Given the description of an element on the screen output the (x, y) to click on. 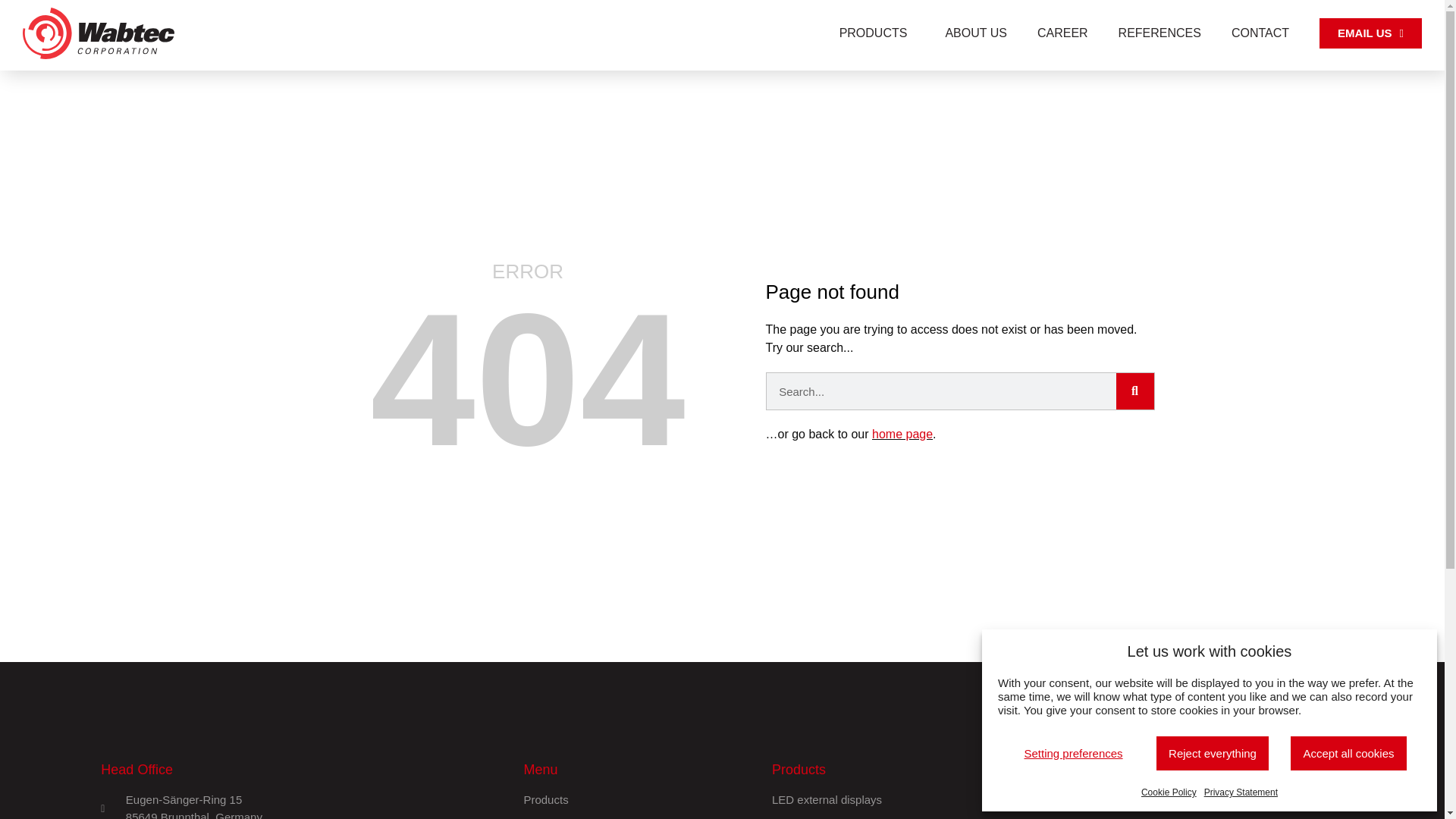
EMAIL US Element type: text (1370, 33)
home page Element type: text (902, 433)
CONTACT Element type: text (1260, 32)
Cookie Policy Element type: text (1168, 792)
Privacy policy Element type: text (1250, 800)
Privacy Statement Element type: text (1240, 792)
PRODUCTS Element type: text (877, 32)
LED external displays Element type: text (956, 800)
Setting preferences Element type: text (1073, 753)
ABOUT US Element type: text (975, 32)
CAREER Element type: text (1062, 32)
Reject everything Element type: text (1212, 753)
Products Element type: text (639, 800)
REFERENCES Element type: text (1159, 32)
Accept all cookies Element type: text (1347, 753)
